Given the description of an element on the screen output the (x, y) to click on. 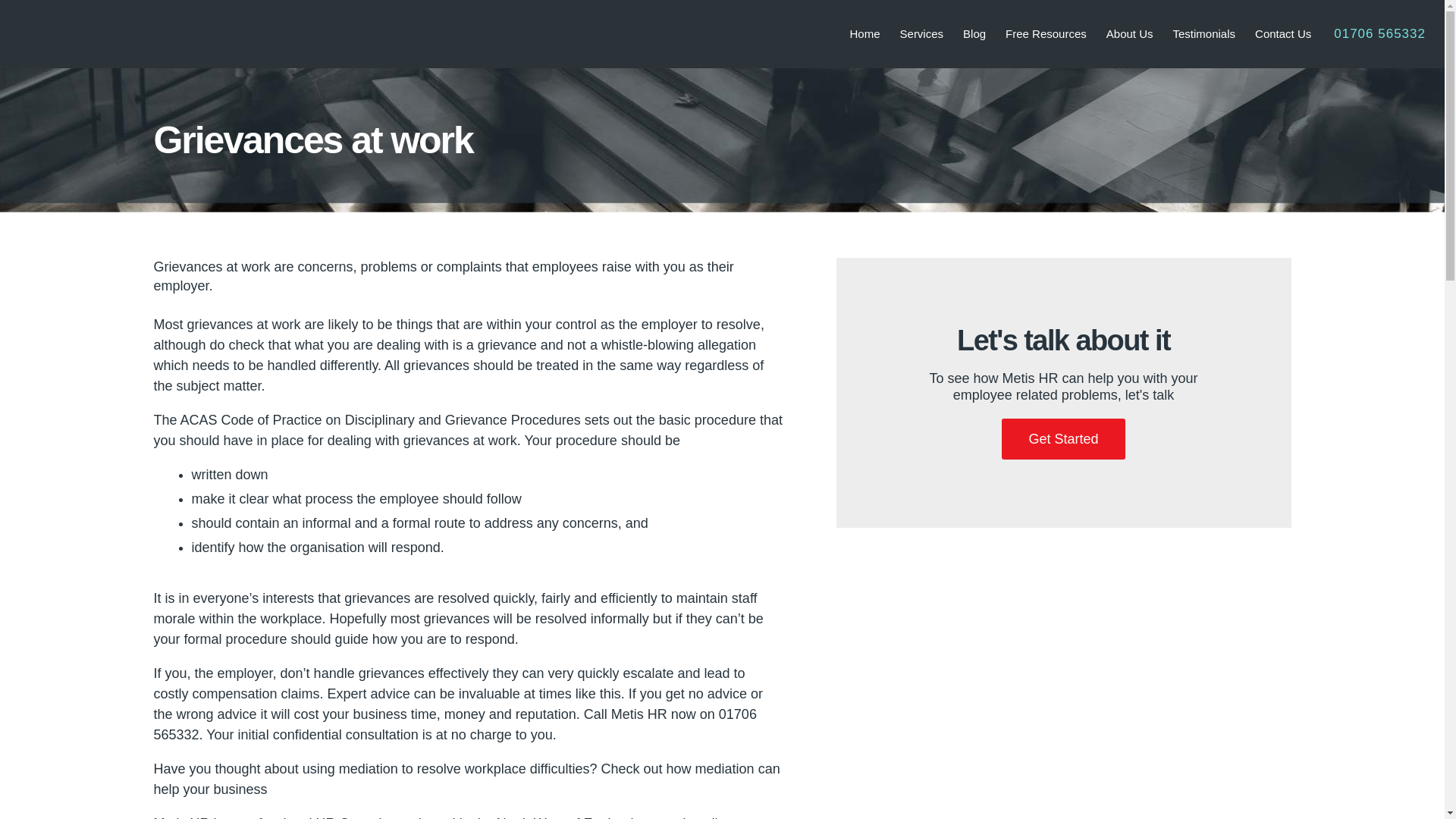
Free Resources (1046, 33)
Testimonials (1204, 33)
